Given the description of an element on the screen output the (x, y) to click on. 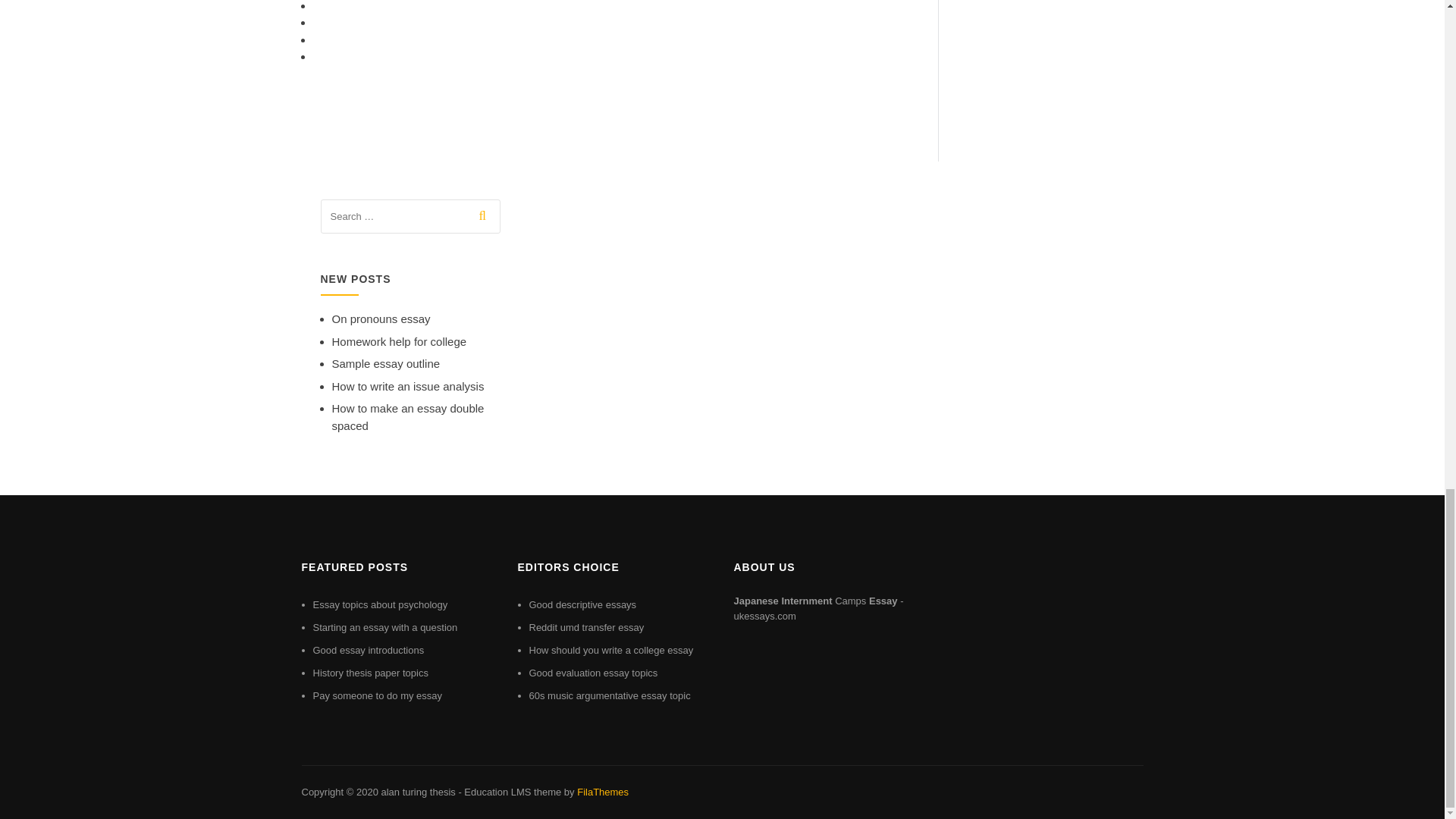
Sample essay outline (386, 363)
How to write an issue analysis (407, 386)
Essay topics about psychology (379, 604)
How should you write a college essay (611, 650)
Reddit umd transfer essay (587, 627)
alan turing thesis (417, 791)
Good evaluation essay topics (593, 672)
Pay someone to do my essay (377, 695)
alan turing thesis (417, 791)
Good descriptive essays (583, 604)
Good essay introductions (368, 650)
How to make an essay double spaced (407, 417)
60s music argumentative essay topic (609, 695)
History thesis paper topics (370, 672)
On pronouns essay (380, 318)
